Given the description of an element on the screen output the (x, y) to click on. 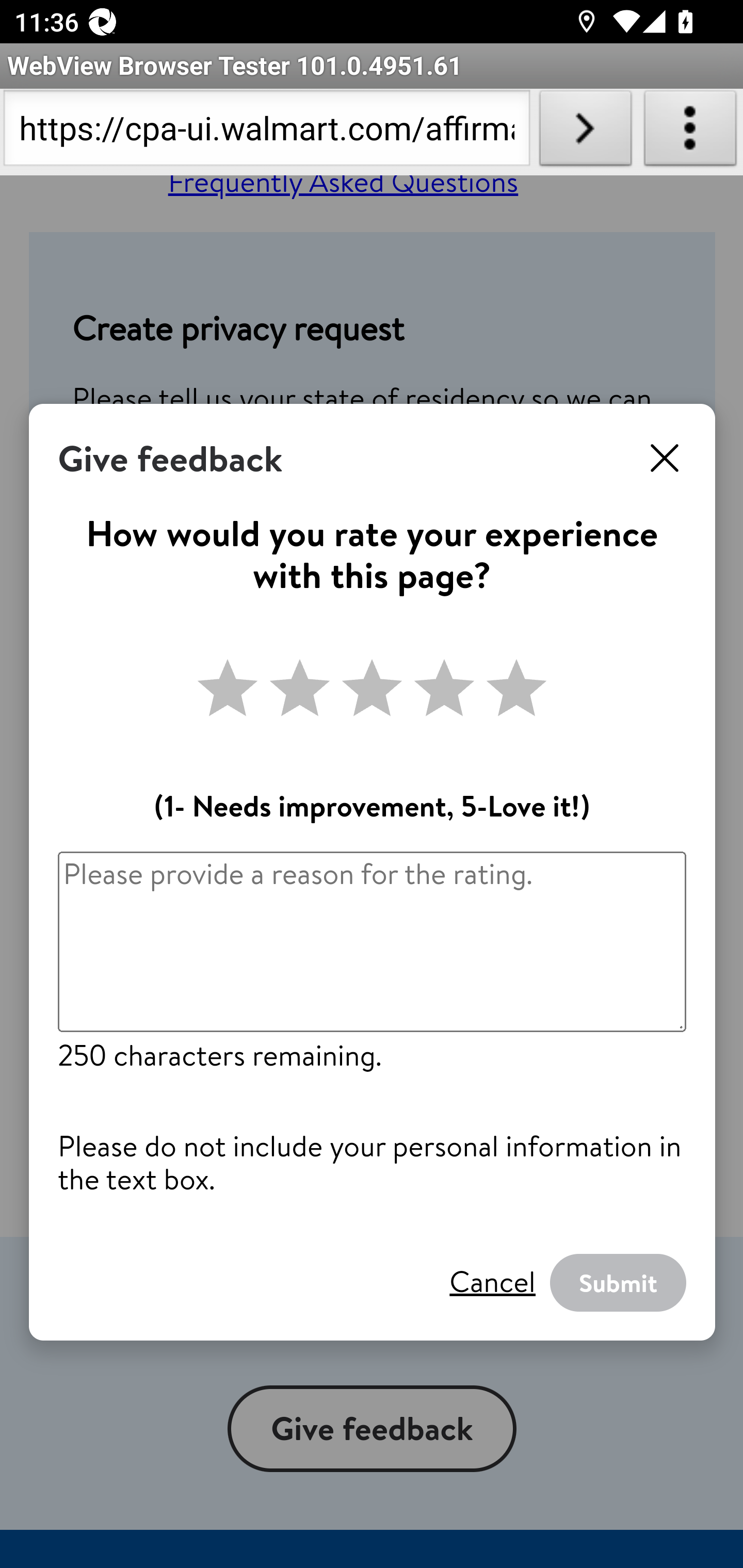
Load URL (585, 132)
About WebView (690, 132)
Close dialog (665, 459)
Submit (618, 1282)
Cancel (492, 1282)
